Given the description of an element on the screen output the (x, y) to click on. 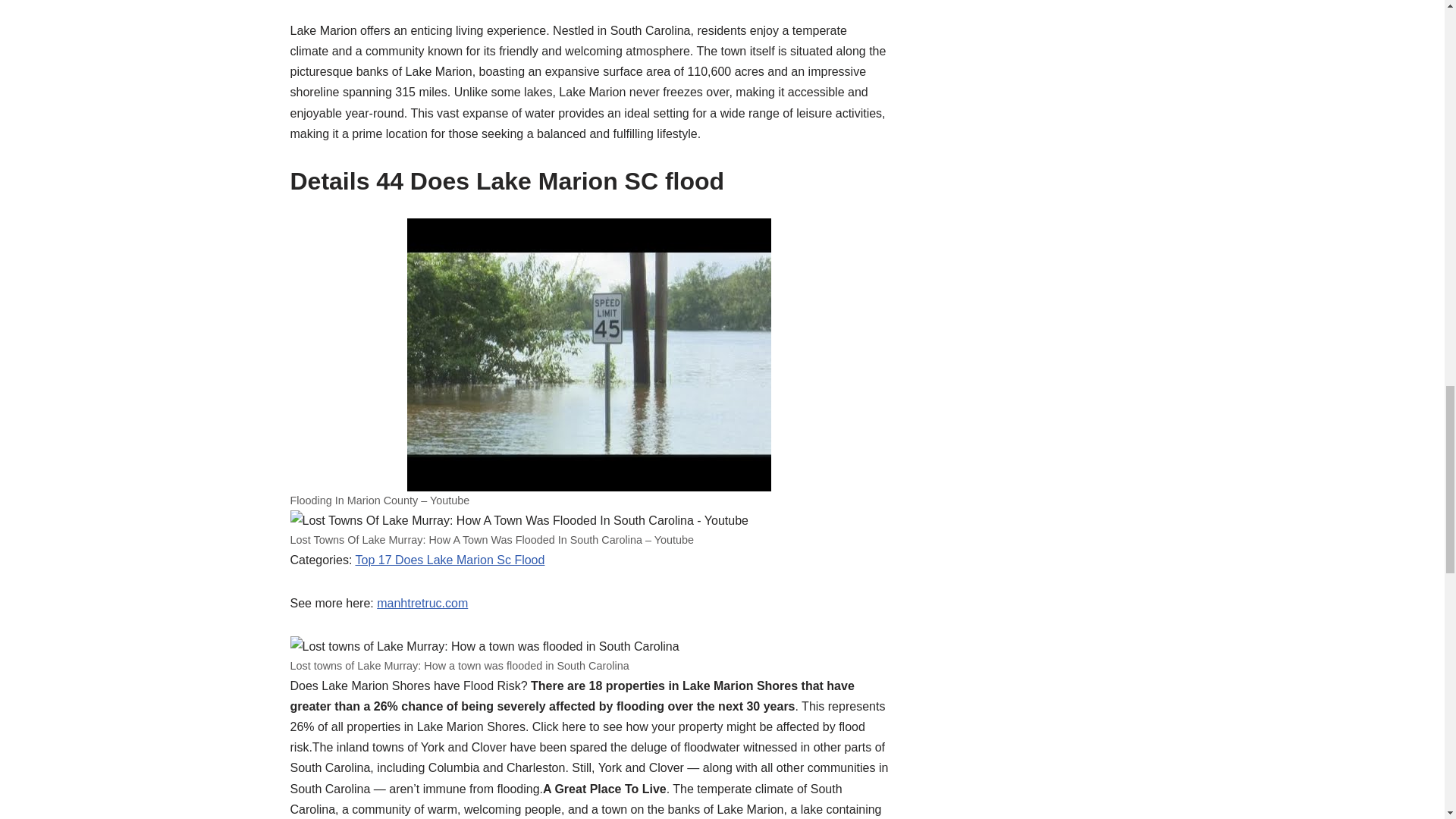
manhtretruc.com (422, 603)
Flooding in Marion County - YouTube (589, 354)
Top 17 Does Lake Marion Sc Flood (449, 559)
